Given the description of an element on the screen output the (x, y) to click on. 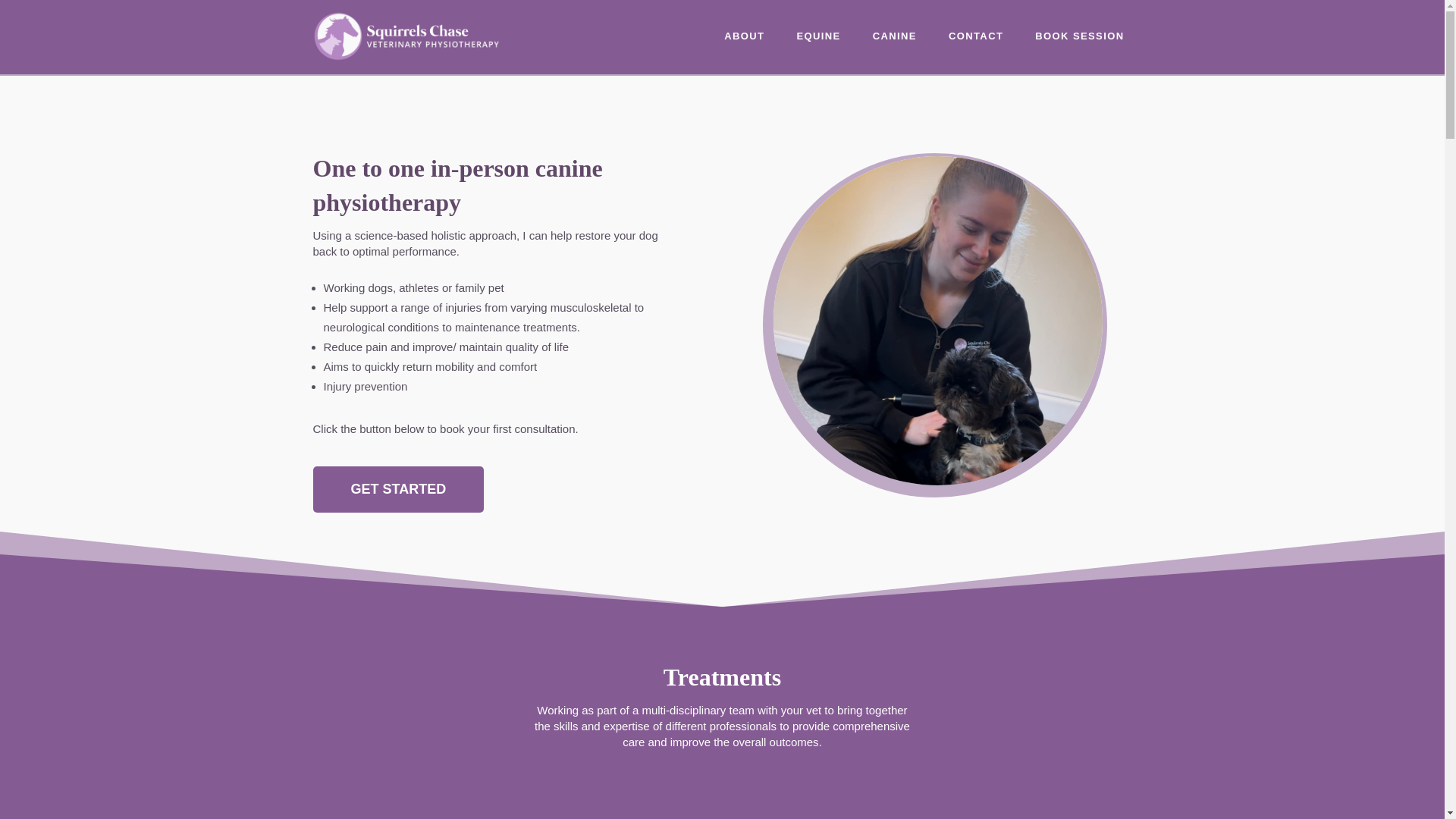
6 copy (937, 321)
GET STARTED (398, 489)
CONTACT (975, 46)
BOOK SESSION (1079, 46)
